Given the description of an element on the screen output the (x, y) to click on. 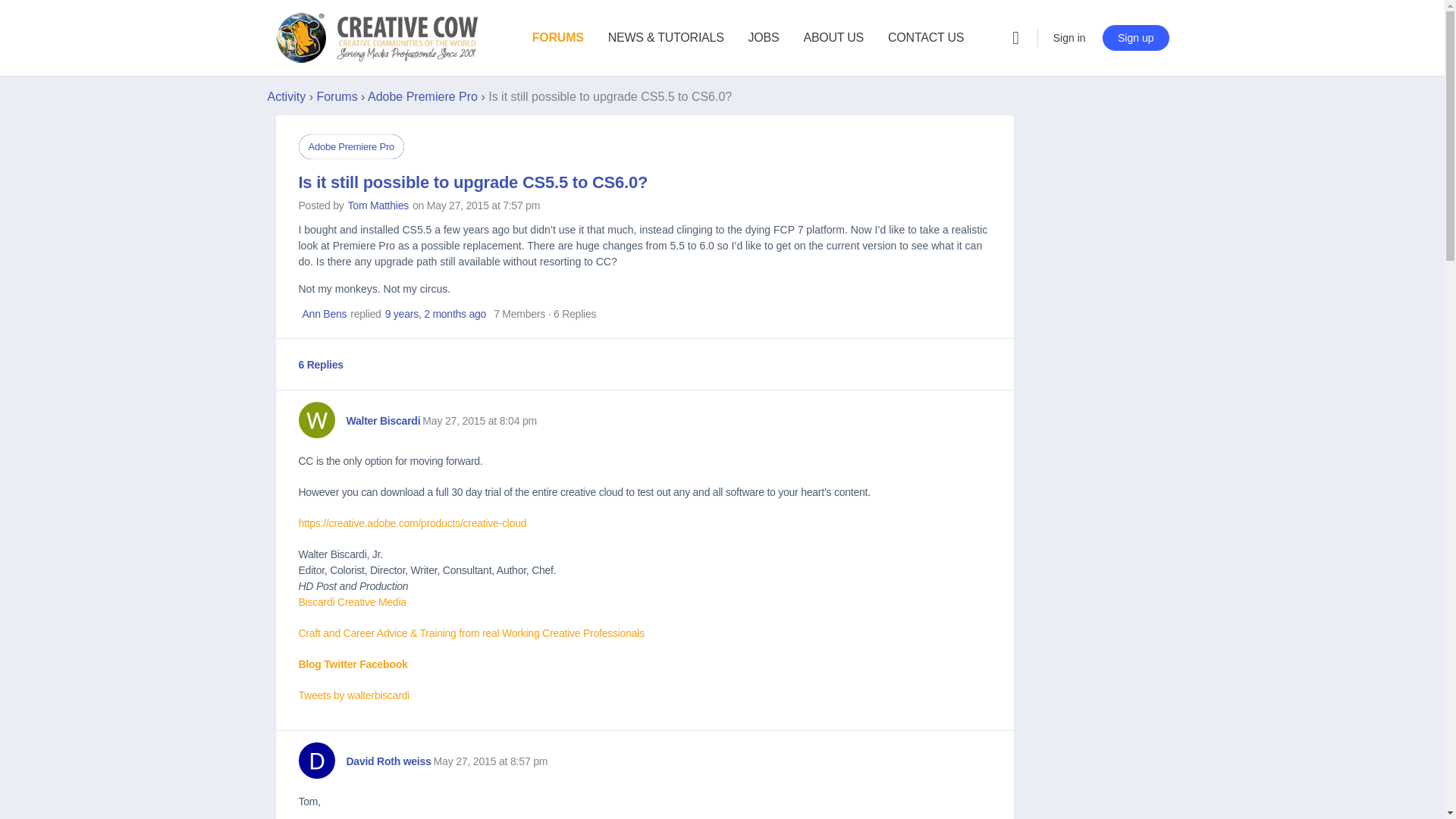
View Walter Biscardi's profile (316, 420)
View David Roth weiss's profile (388, 761)
View Walter Biscardi's profile (383, 420)
Reply To: Is it still possible to upgrade CS5.5 to CS6.0? (435, 313)
View Tom Matthies's profile (378, 204)
View David Roth weiss's profile (316, 760)
View Ann Bens's profile (323, 313)
